Given the description of an element on the screen output the (x, y) to click on. 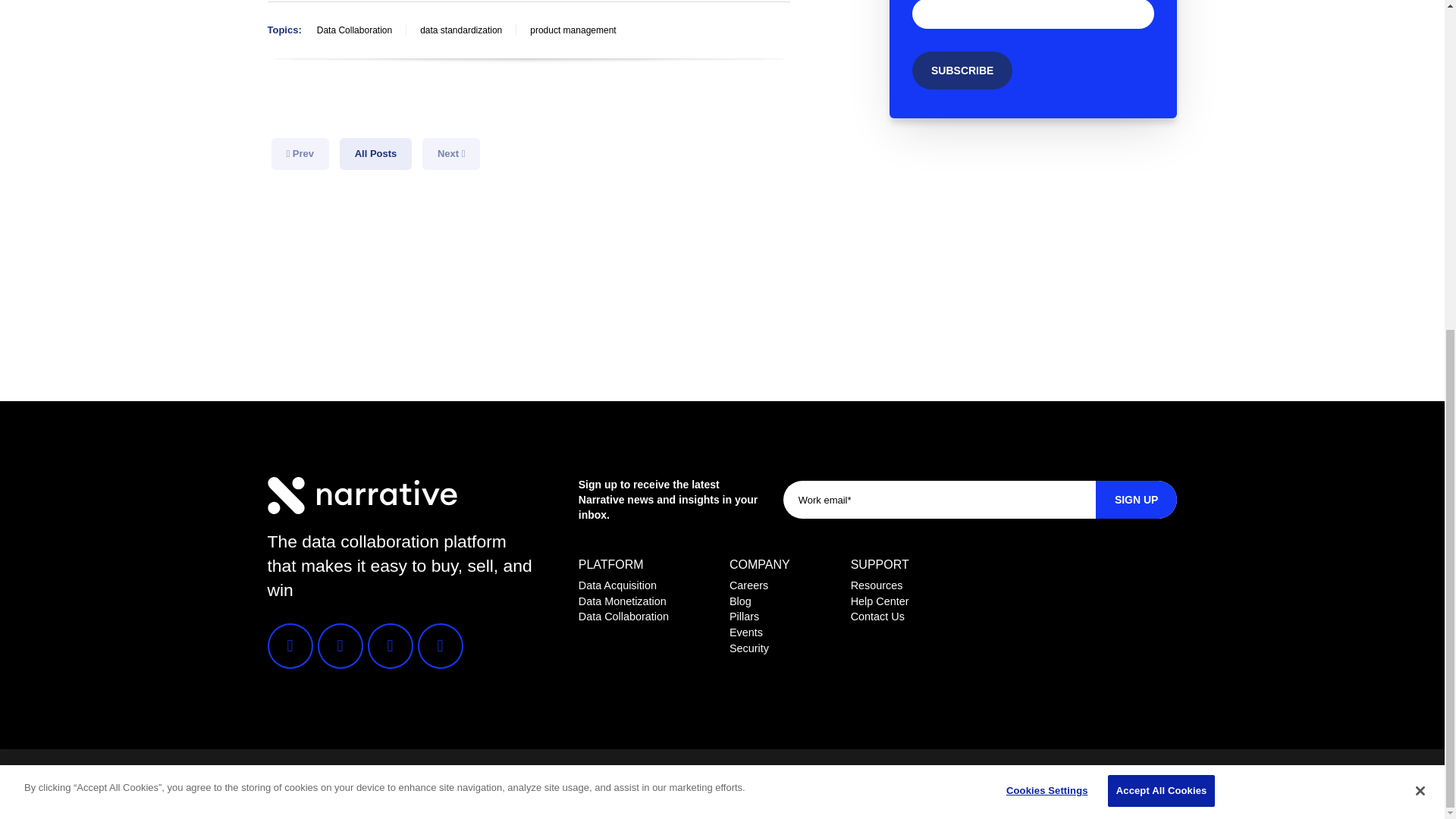
Narrative logo (361, 494)
Subscribe (961, 70)
Sign up (1136, 499)
